Given the description of an element on the screen output the (x, y) to click on. 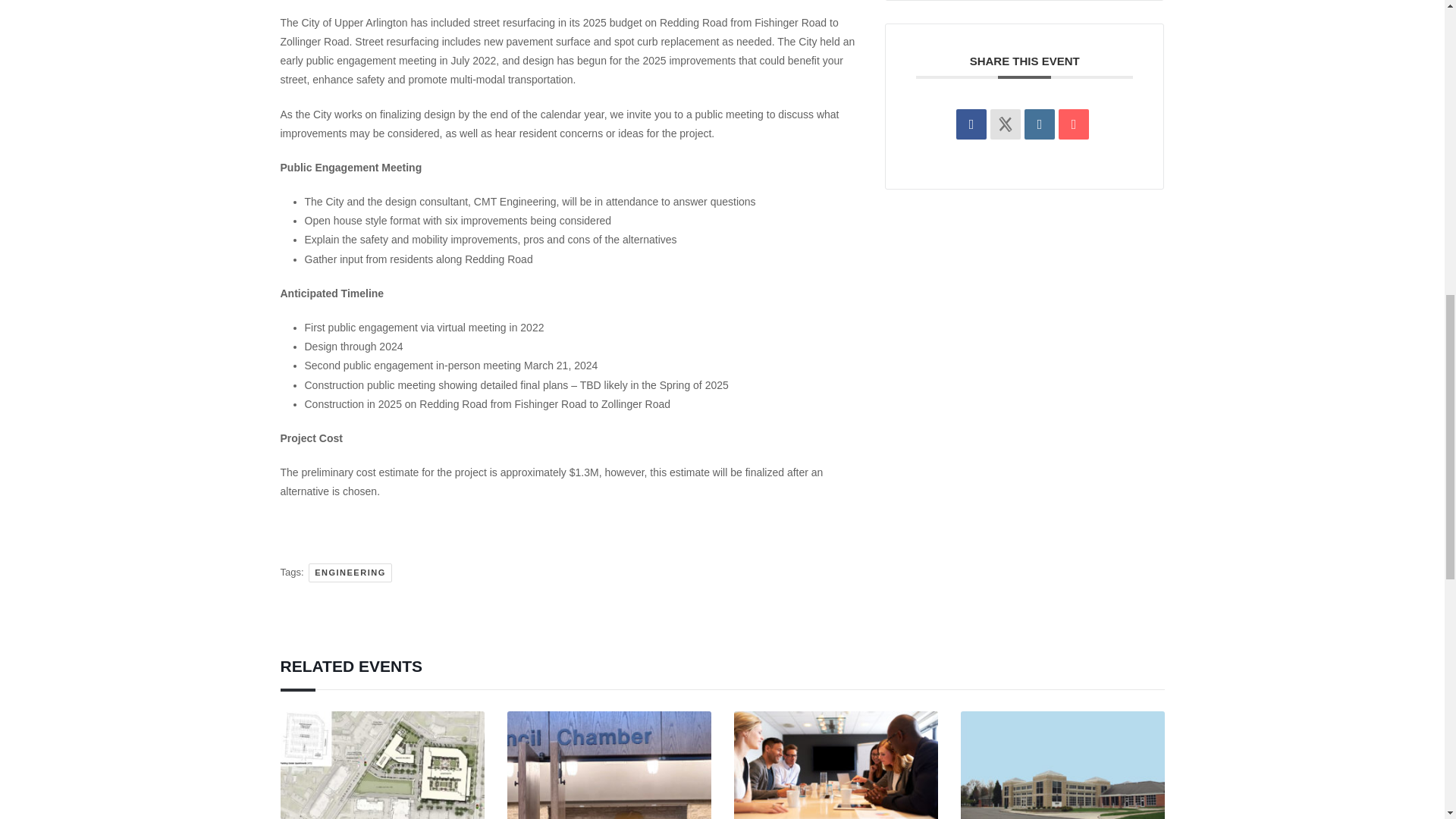
Email (1073, 123)
Linkedin (1039, 123)
ENGINEERING (349, 573)
X Social Network (1005, 123)
Share on Facebook (971, 123)
